Given the description of an element on the screen output the (x, y) to click on. 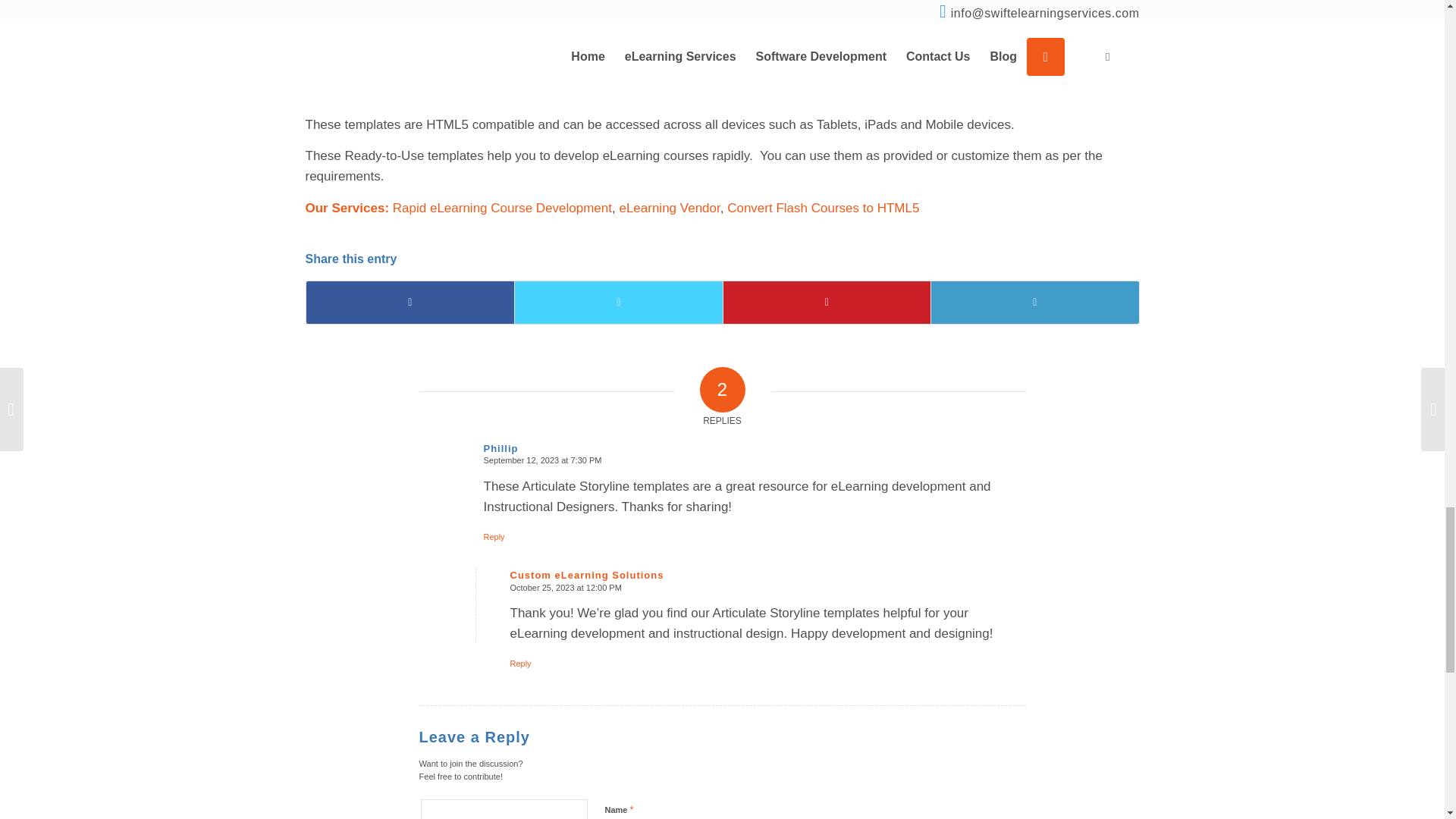
Reply (520, 663)
October 25, 2023 at 12:00 PM (565, 587)
Rapid eLearning Course Development (502, 207)
Reply (494, 536)
eLearning Vendor (668, 207)
Convert Flash Courses to HTML5 (822, 207)
Custom eLearning Solutions (586, 574)
September 12, 2023 at 7:30 PM (542, 460)
